Given the description of an element on the screen output the (x, y) to click on. 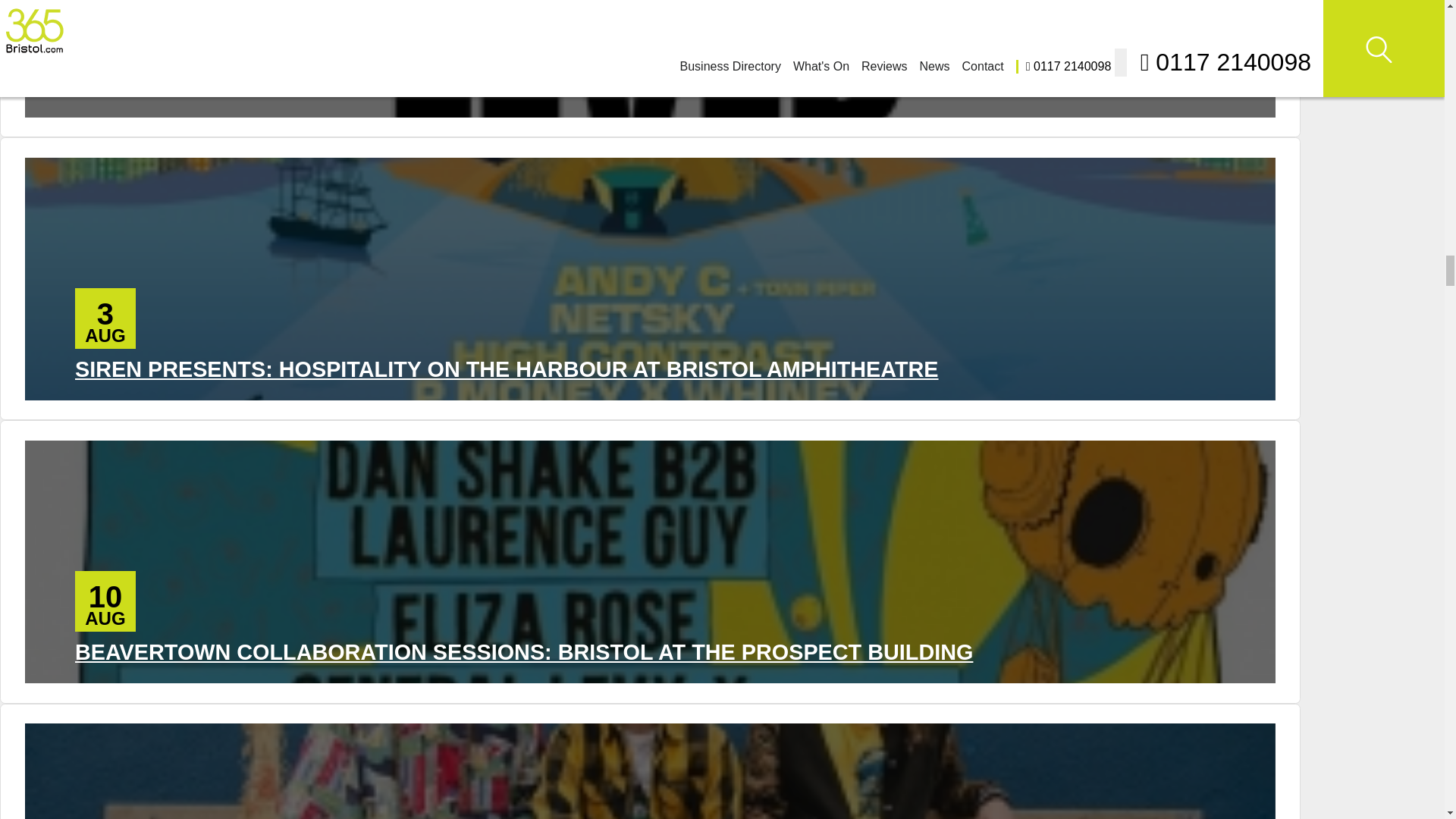
DAY FEVER AT O2 ACADEMY BRISTOL (278, 86)
